Given the description of an element on the screen output the (x, y) to click on. 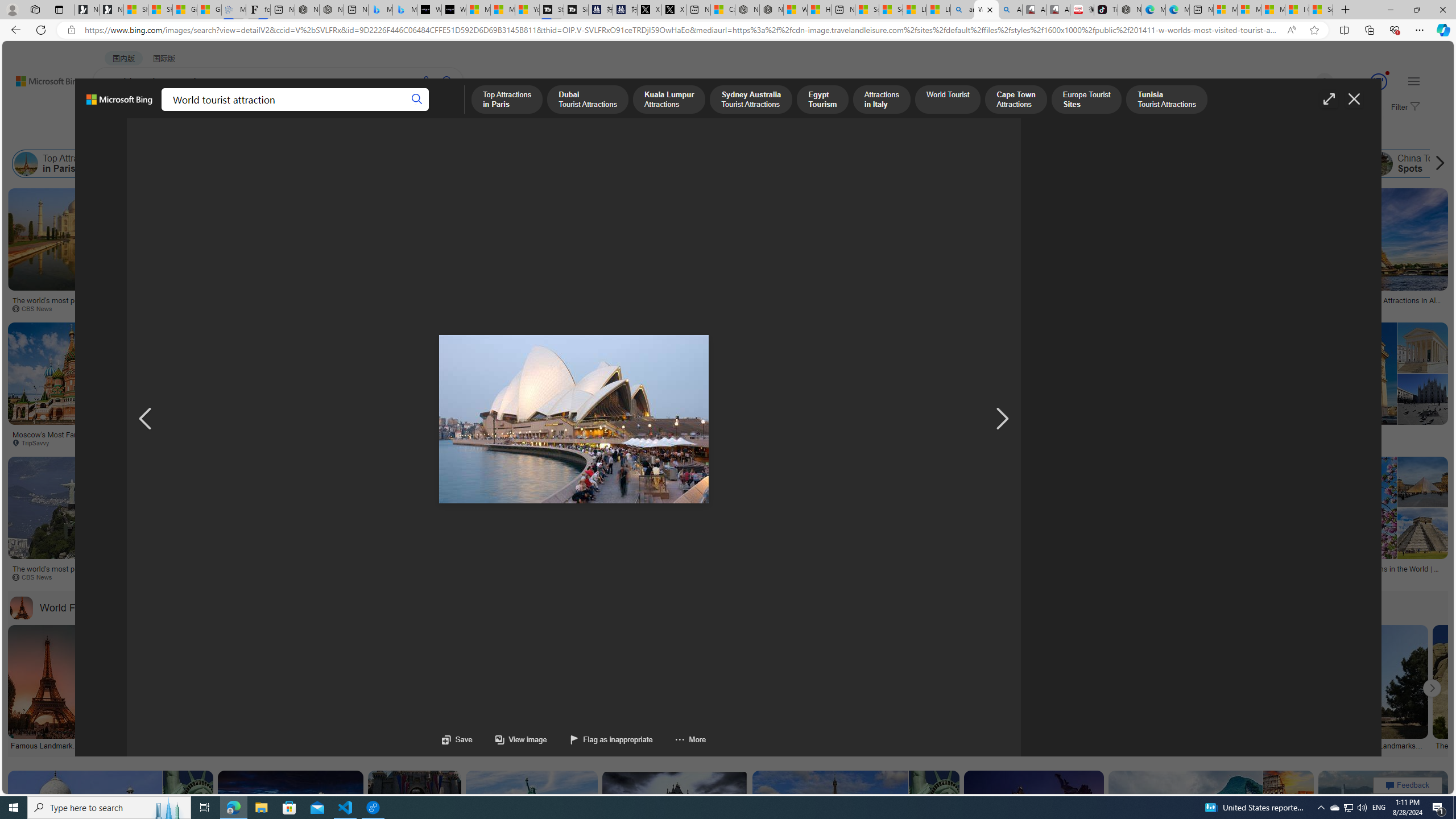
App bar (728, 29)
Image size (126, 135)
businessinsider.com (958, 442)
Shanghai, China weather forecast | Microsoft Weather (159, 9)
WorldAtlas (1321, 308)
Nordace - Summer Adventures 2024 (770, 9)
VIDEOS (260, 111)
farandwide.com (975, 576)
